Given the description of an element on the screen output the (x, y) to click on. 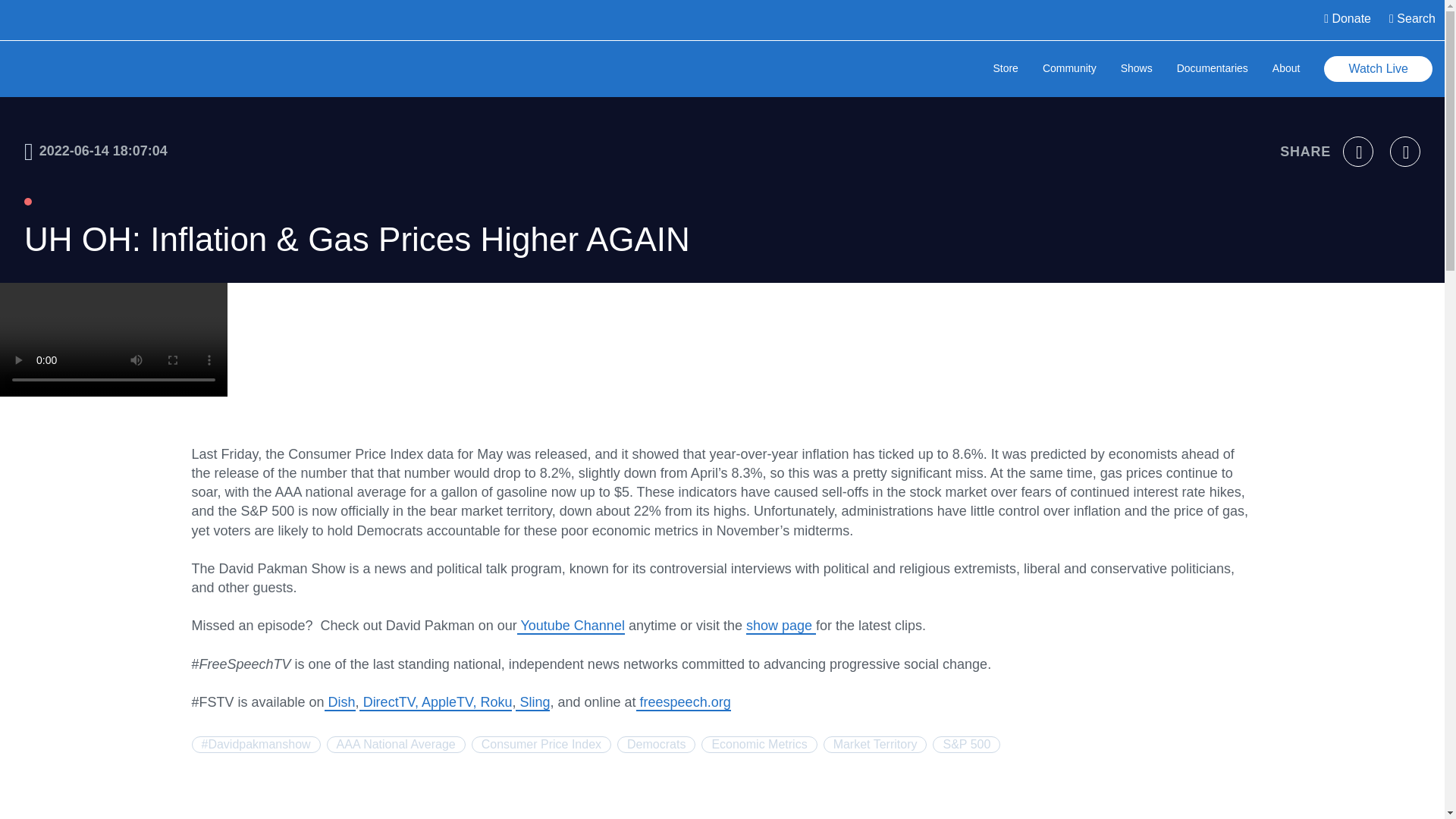
Donate (1347, 20)
Watch Live (1377, 68)
Documentaries (1211, 69)
Community (1069, 69)
Search (1412, 20)
